Given the description of an element on the screen output the (x, y) to click on. 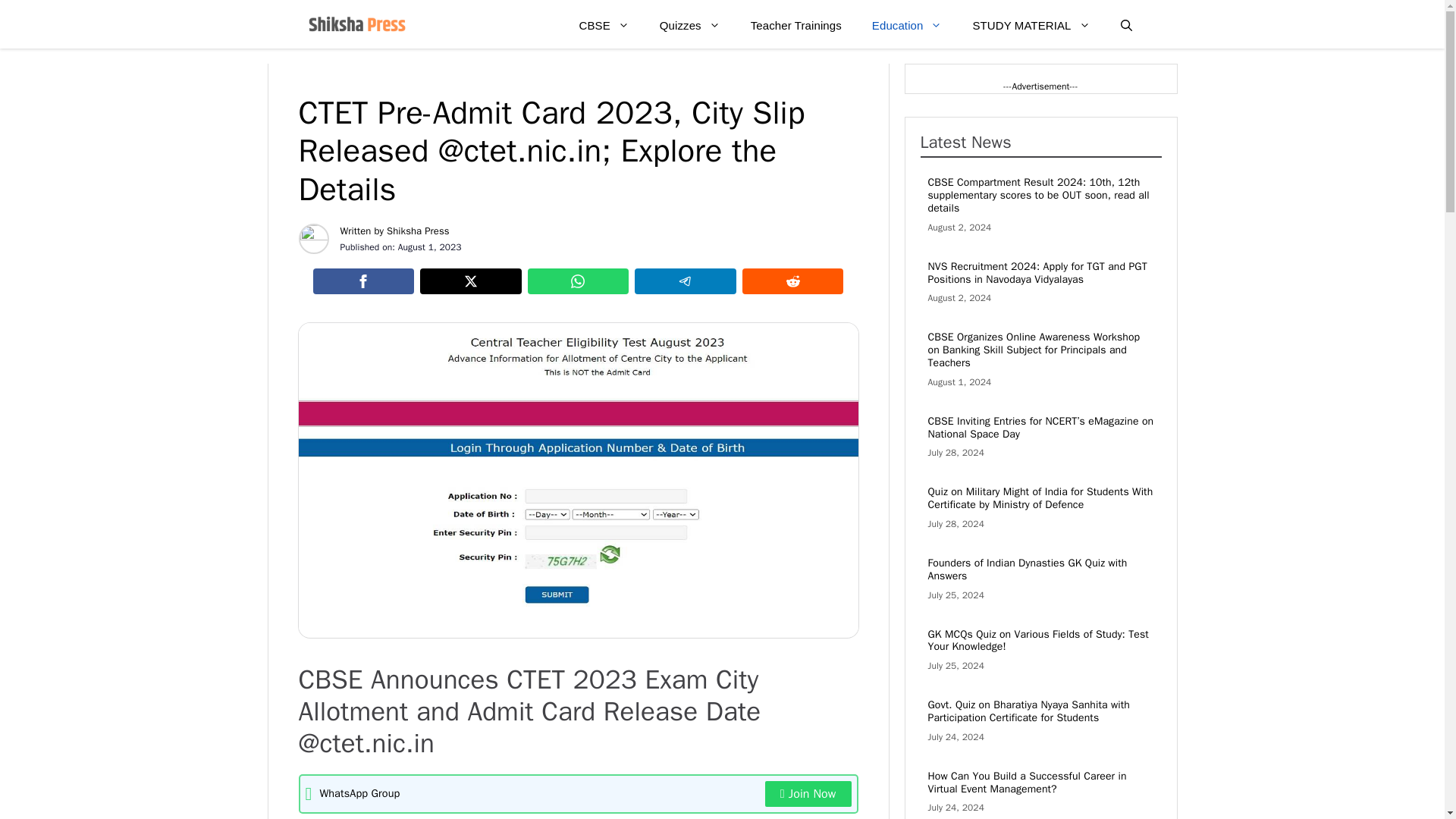
Teacher Trainings (796, 25)
Shiksha Press (418, 230)
Education (907, 25)
STUDY MATERIAL (1030, 25)
CBSE (604, 25)
Quizzes (690, 25)
